Given the description of an element on the screen output the (x, y) to click on. 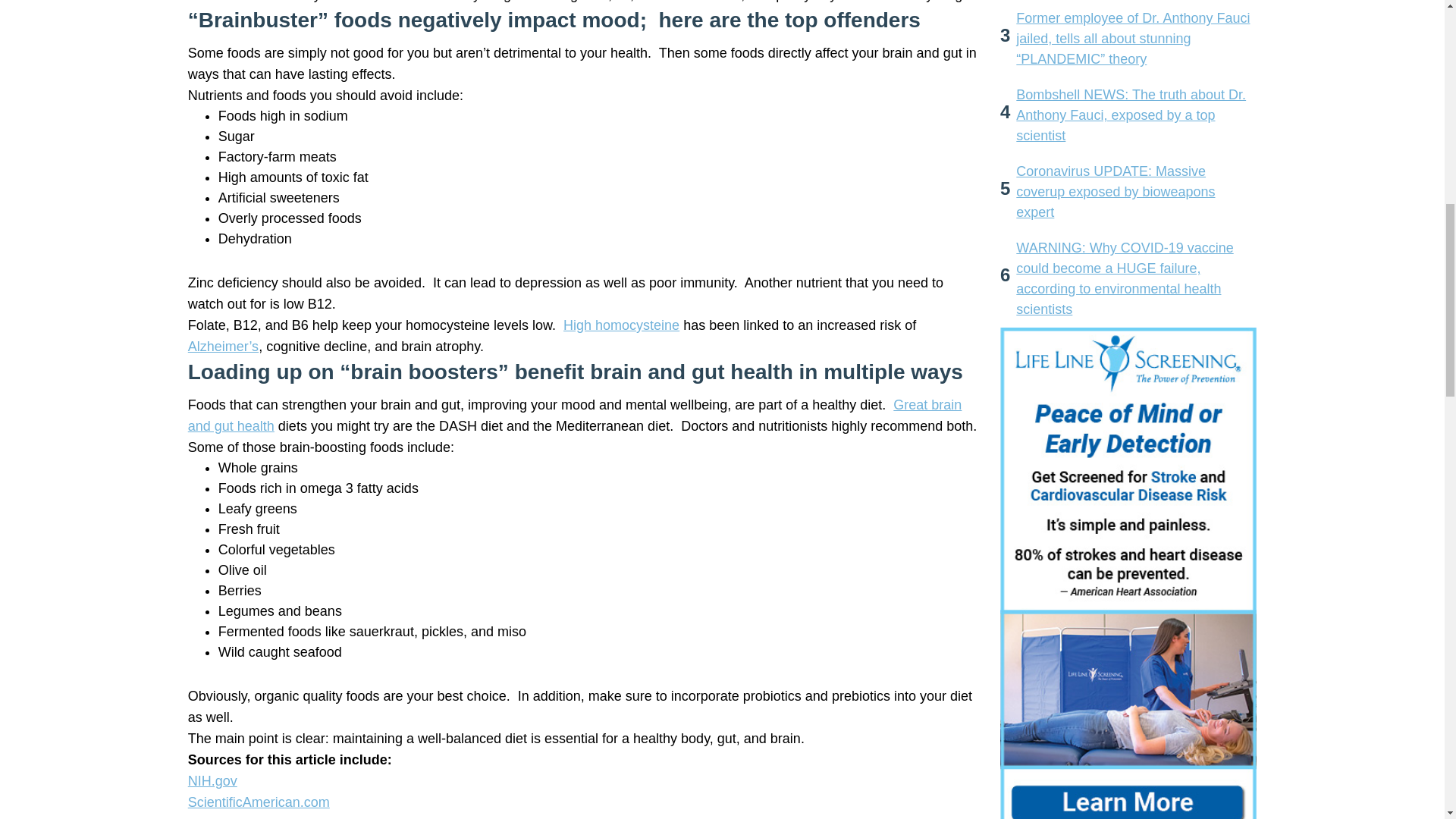
NIH.gov (212, 780)
High homocysteine (621, 324)
Great brain and gut health (574, 415)
ScientificAmerican.com (258, 801)
